Given the description of an element on the screen output the (x, y) to click on. 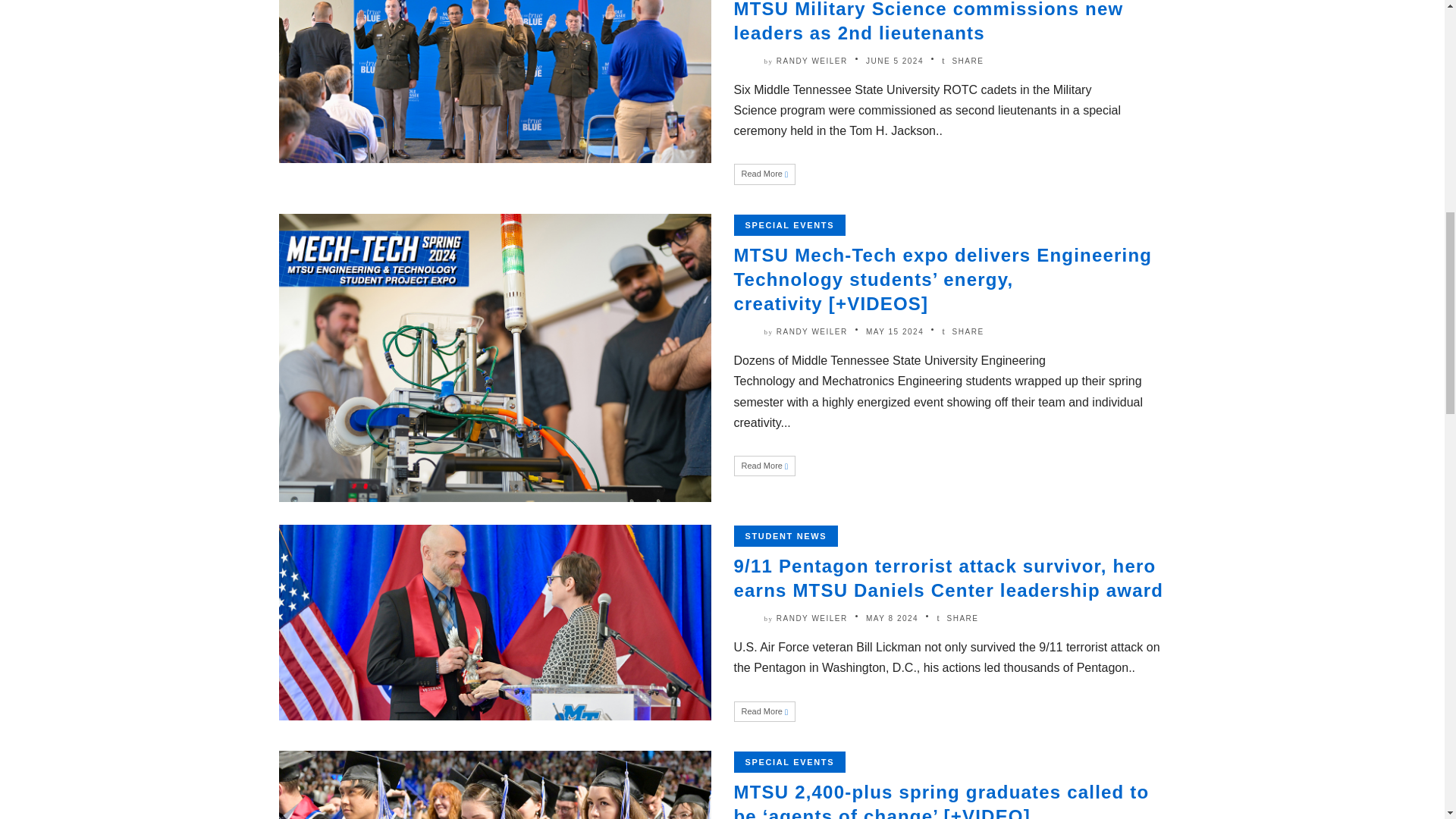
May 15, 2024 12:43 (894, 331)
Posts by Randy Weiler (811, 60)
June 5, 2024 1:53 (894, 60)
May 8, 2024 12:12 (892, 618)
Posts by Randy Weiler (811, 618)
Posts by Randy Weiler (811, 331)
